Given the description of an element on the screen output the (x, y) to click on. 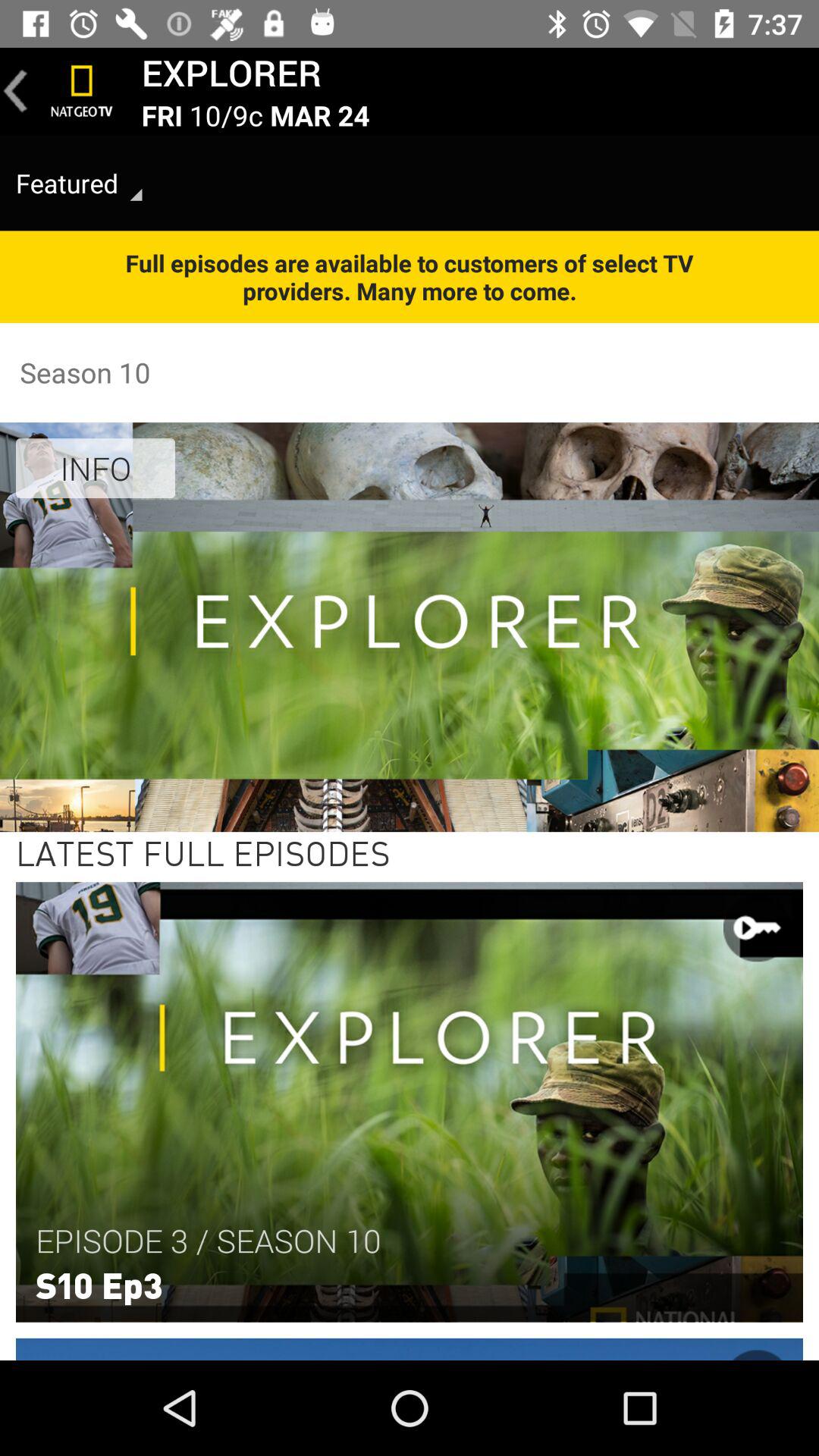
turn on the item below the episode 3 season item (98, 1284)
